Given the description of an element on the screen output the (x, y) to click on. 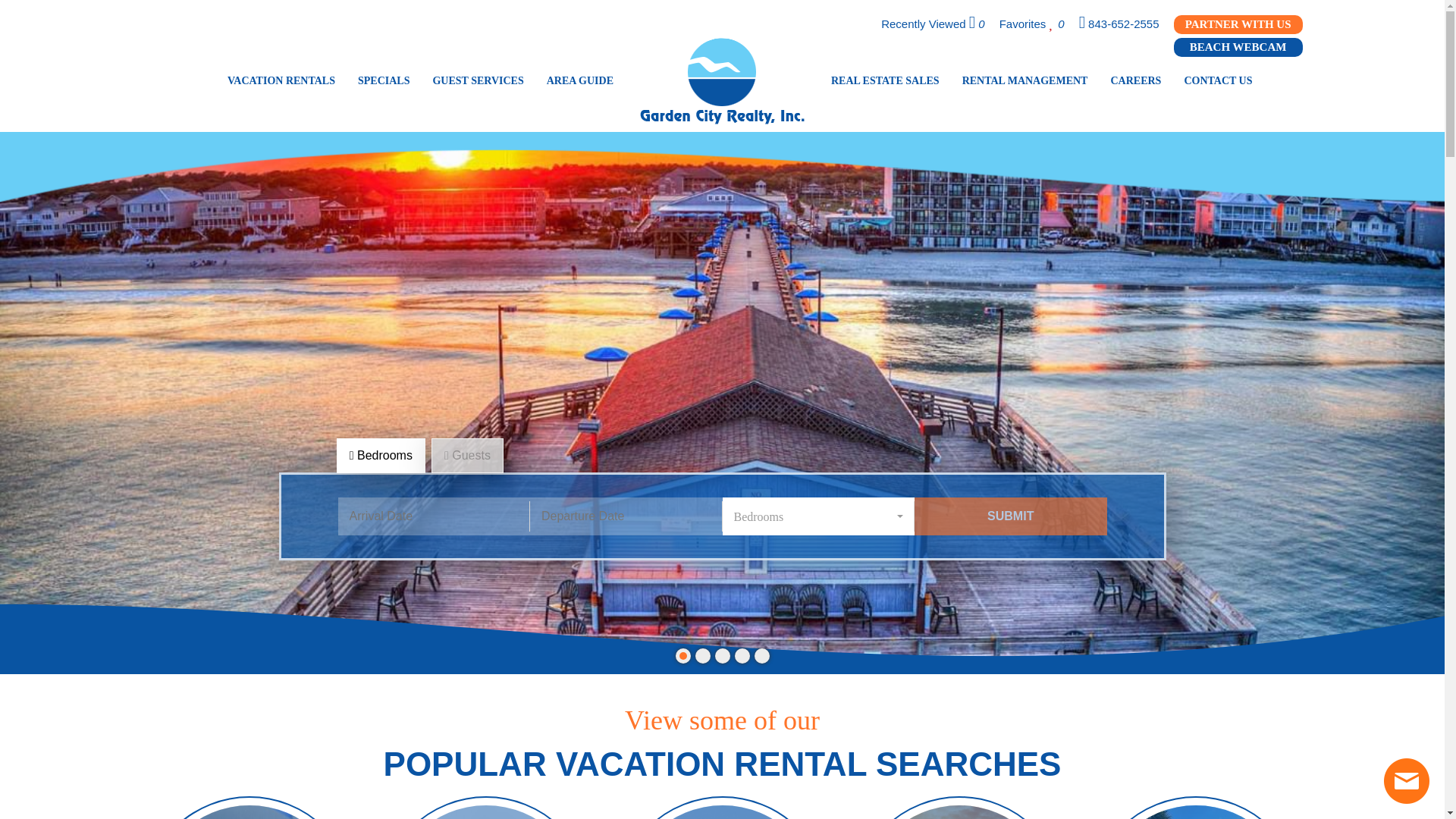
VACATION RENTALS (280, 80)
Bedrooms (818, 516)
Live chat offline (1406, 780)
Garden City Realty (722, 80)
SPECIALS (383, 80)
